Given the description of an element on the screen output the (x, y) to click on. 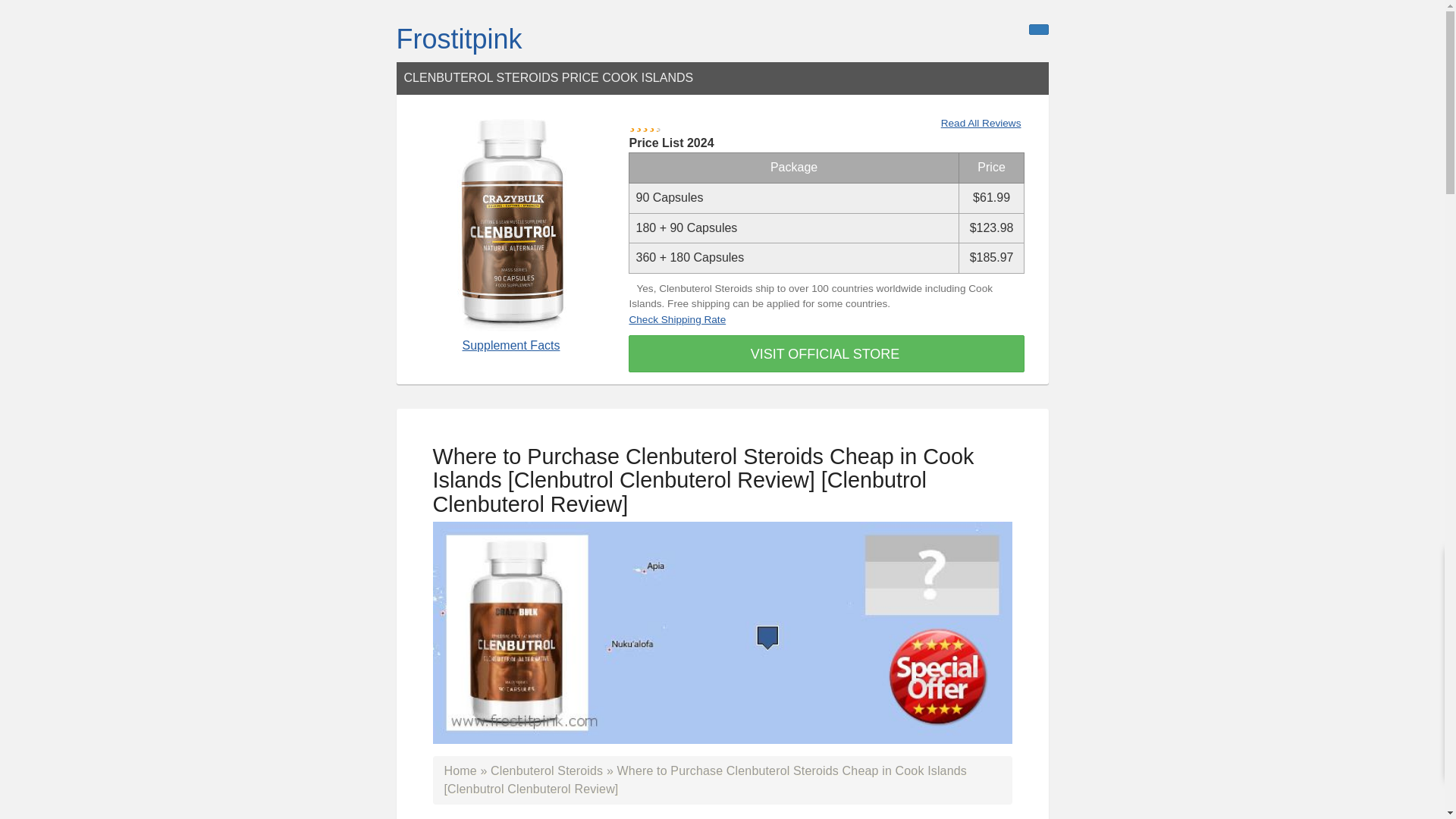
Buy Clenbuterol Steroids Online  (546, 770)
Home (460, 770)
Frostitpink (458, 38)
Frostitpink (458, 38)
Clenbuterol Steroids (546, 770)
